Given the description of an element on the screen output the (x, y) to click on. 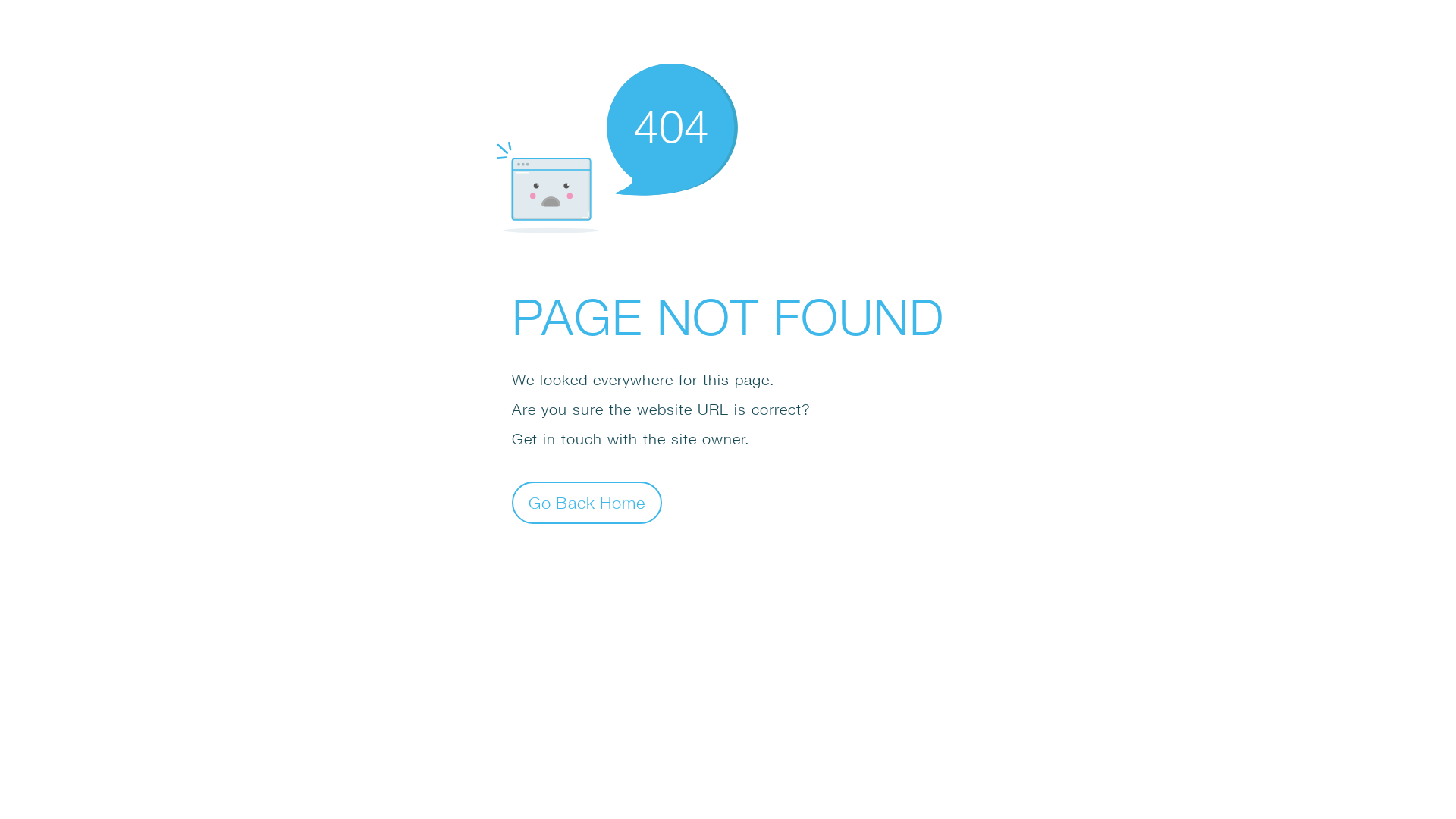
Go Back Home Element type: text (586, 502)
